Given the description of an element on the screen output the (x, y) to click on. 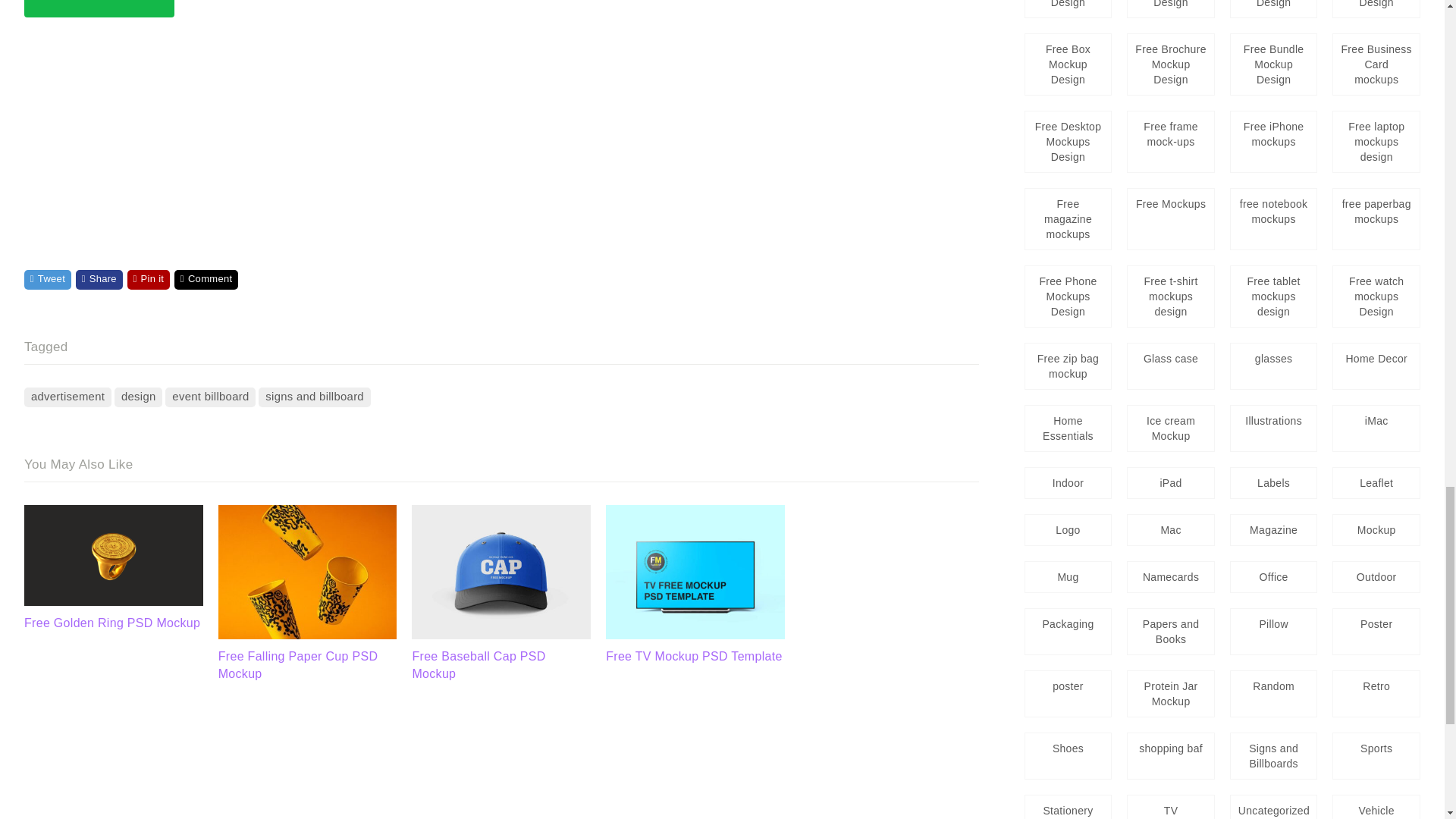
Pin it (149, 279)
Free Falling Paper Cup PSD Mockup (307, 634)
Free Download (99, 8)
Tweet (47, 279)
Free Golden Ring PSD Mockup (113, 555)
Comment (206, 279)
Share on Twitter (47, 279)
Share on Facebook (98, 279)
event billboard (210, 397)
Free Baseball Cap PSD Mockup (501, 634)
